Given the description of an element on the screen output the (x, y) to click on. 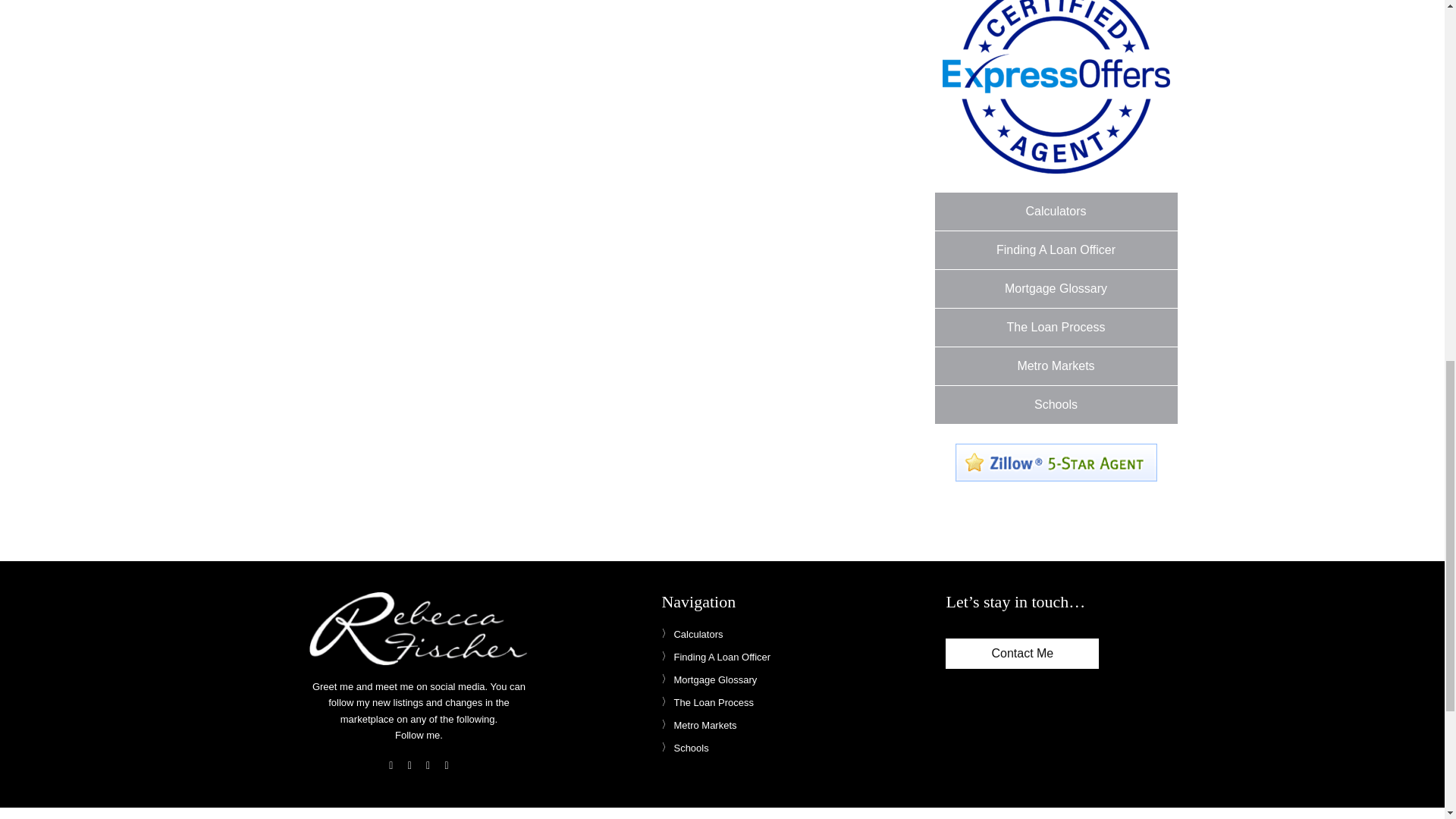
Finding A Loan Officer (715, 657)
Metro Markets (1055, 365)
Calculators (691, 634)
The Loan Process (1055, 327)
Mortgage Glossary (1055, 288)
Finding A Loan Officer (1055, 249)
Schools (1055, 404)
Mortgage Glossary (709, 680)
Calculators (1055, 211)
